Given the description of an element on the screen output the (x, y) to click on. 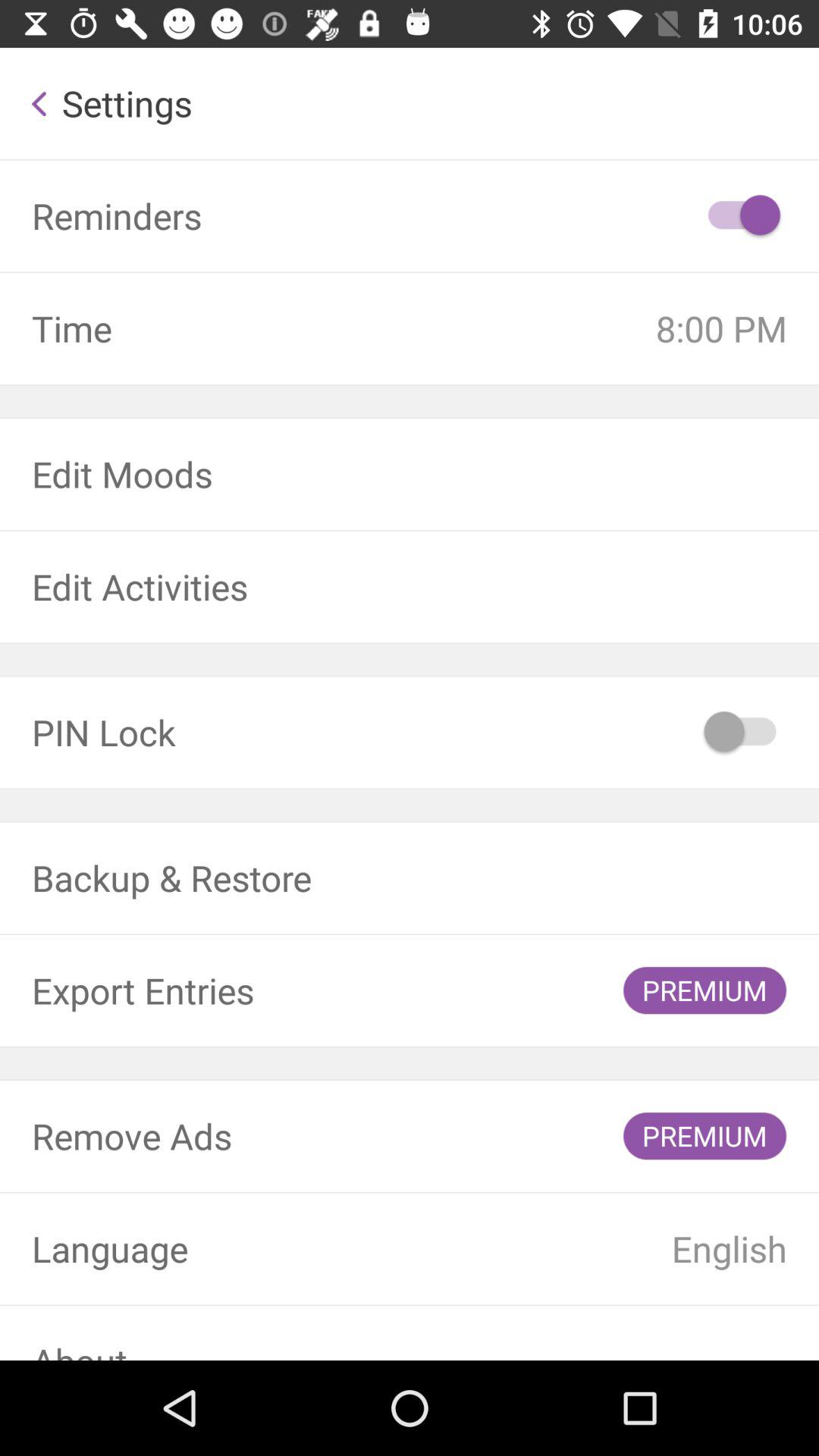
open the icon next to the pin lock (742, 732)
